Given the description of an element on the screen output the (x, y) to click on. 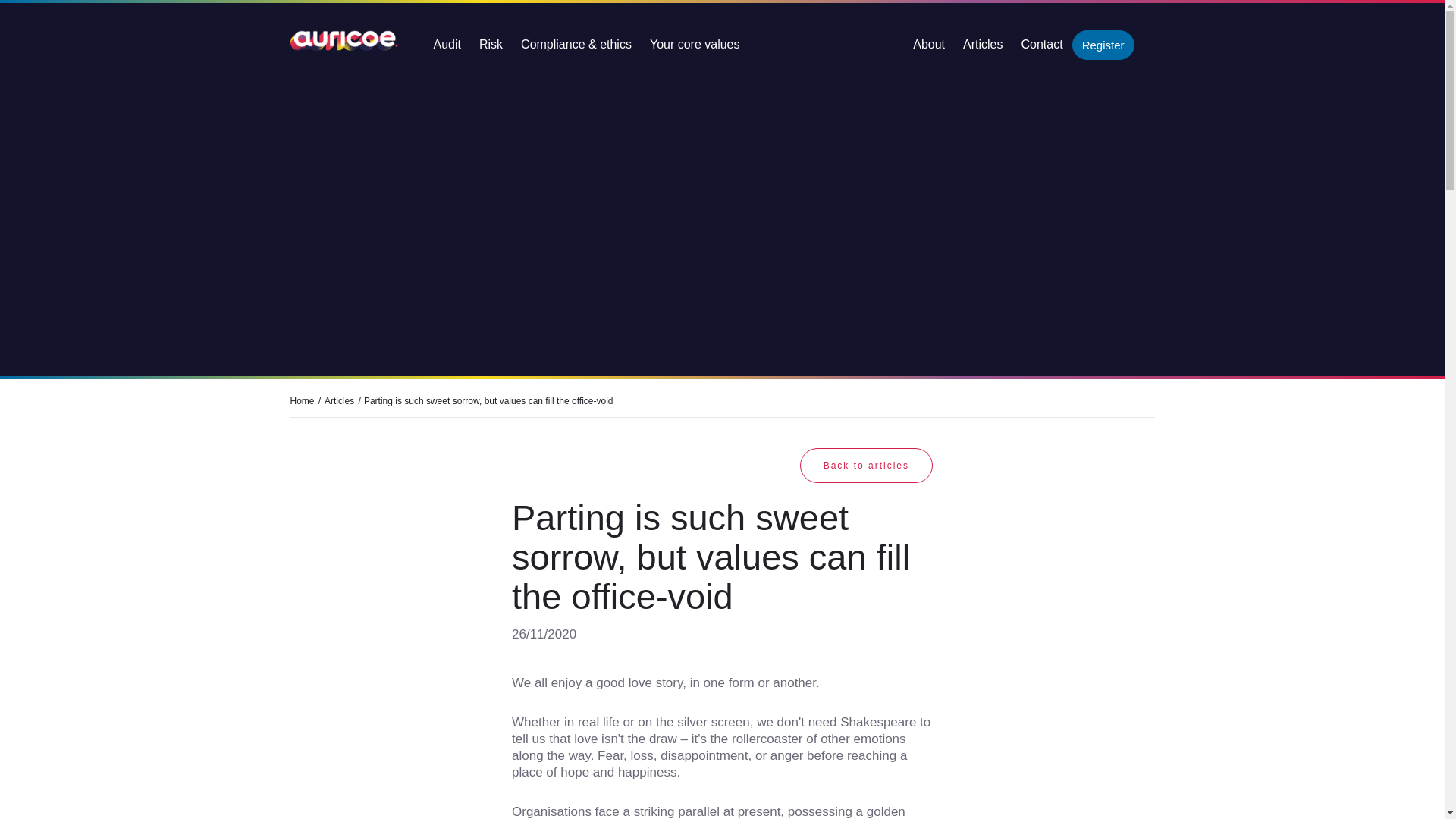
Risk (491, 44)
Articles (982, 44)
Contact (1041, 44)
Your core values (694, 44)
Audit (447, 44)
About (928, 44)
Register (1102, 44)
Articles (338, 400)
Home (301, 400)
Back to articles (866, 465)
